Given the description of an element on the screen output the (x, y) to click on. 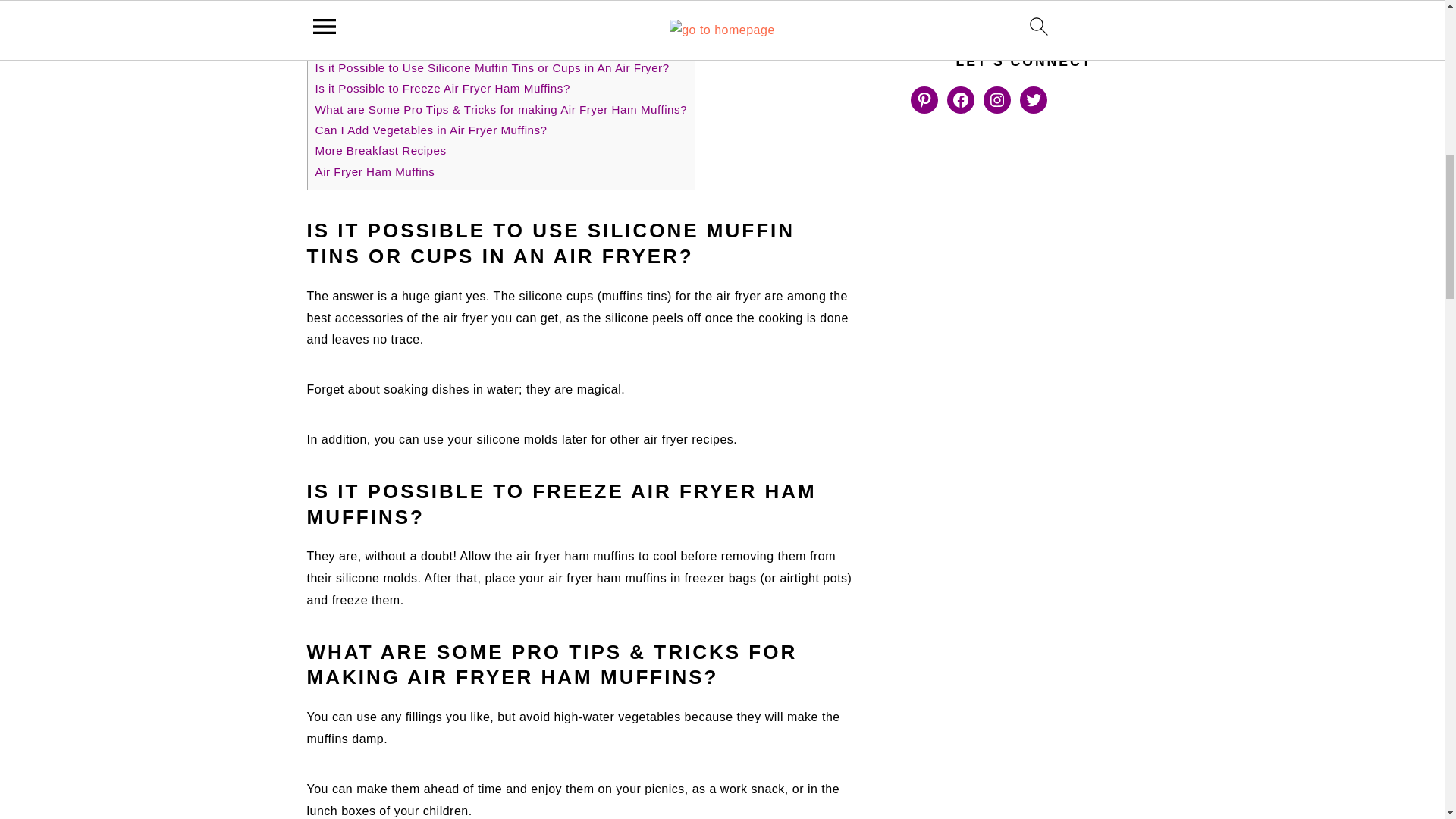
Air Fryer Ham Muffins (375, 171)
Is it Possible to Freeze Air Fryer Ham Muffins? (442, 88)
More Breakfast Recipes (380, 150)
Can I Add Vegetables in Air Fryer Muffins? (431, 129)
